Given the description of an element on the screen output the (x, y) to click on. 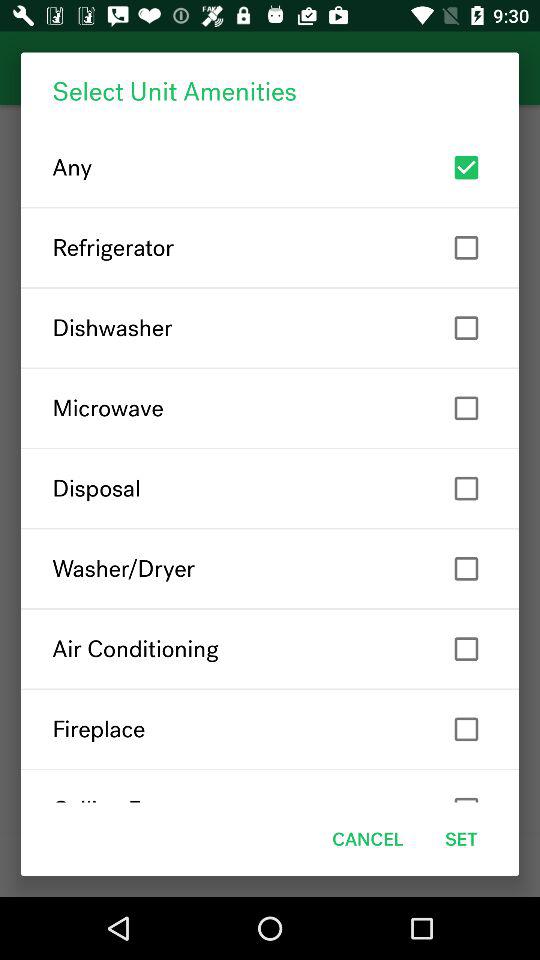
click item below microwave item (270, 488)
